Given the description of an element on the screen output the (x, y) to click on. 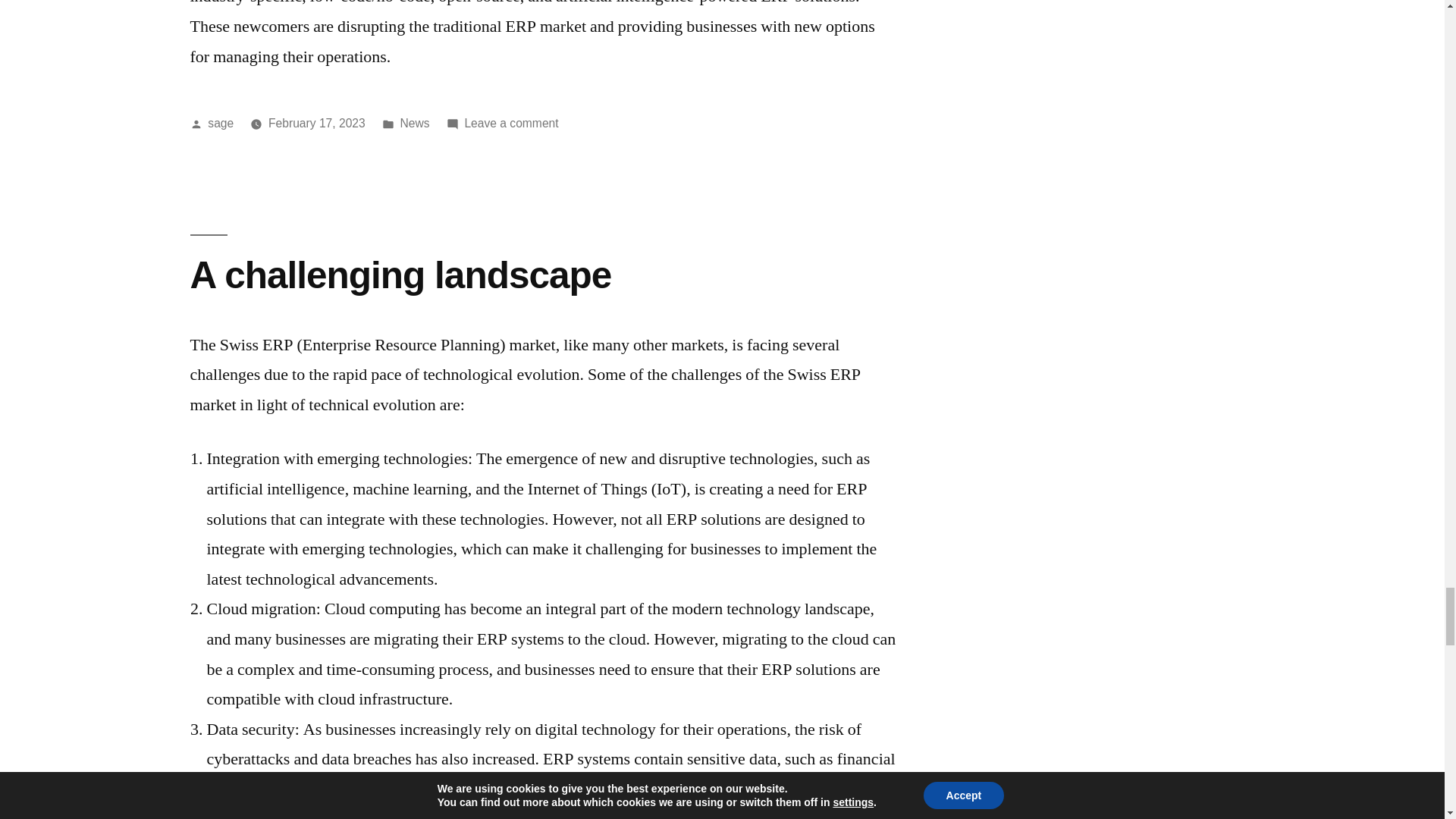
sage (510, 123)
News (220, 123)
A challenging landscape (414, 123)
February 17, 2023 (400, 274)
